Given the description of an element on the screen output the (x, y) to click on. 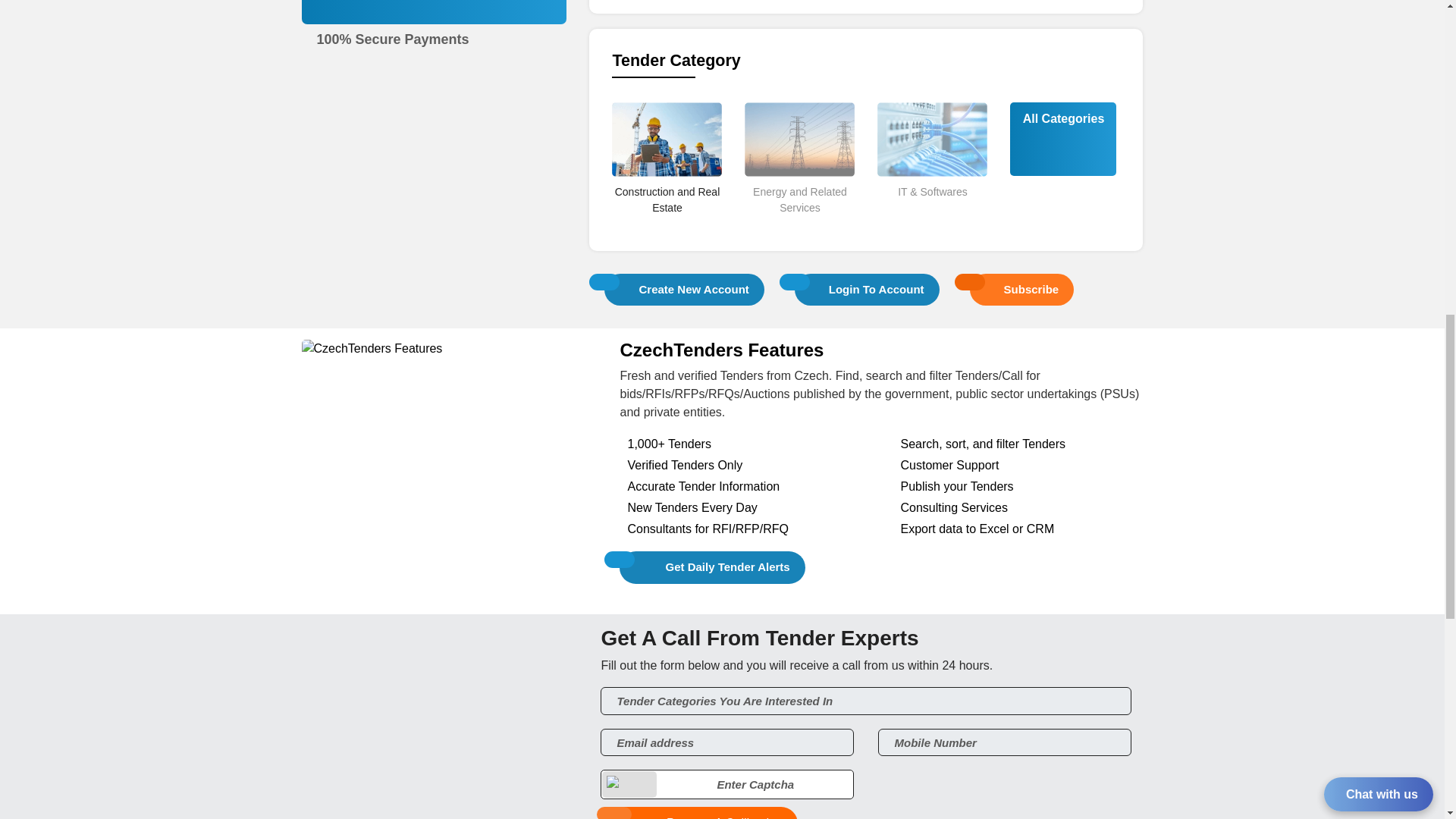
Get Daily Tender Alerts (712, 567)
All Categories (1062, 118)
Subscription Plans (434, 20)
Request A Callback (698, 812)
Construction and Real Estate (666, 225)
Subscribe (1022, 288)
Create New Account (684, 288)
Login To Account (866, 288)
Energy and Related Services (799, 225)
